Given the description of an element on the screen output the (x, y) to click on. 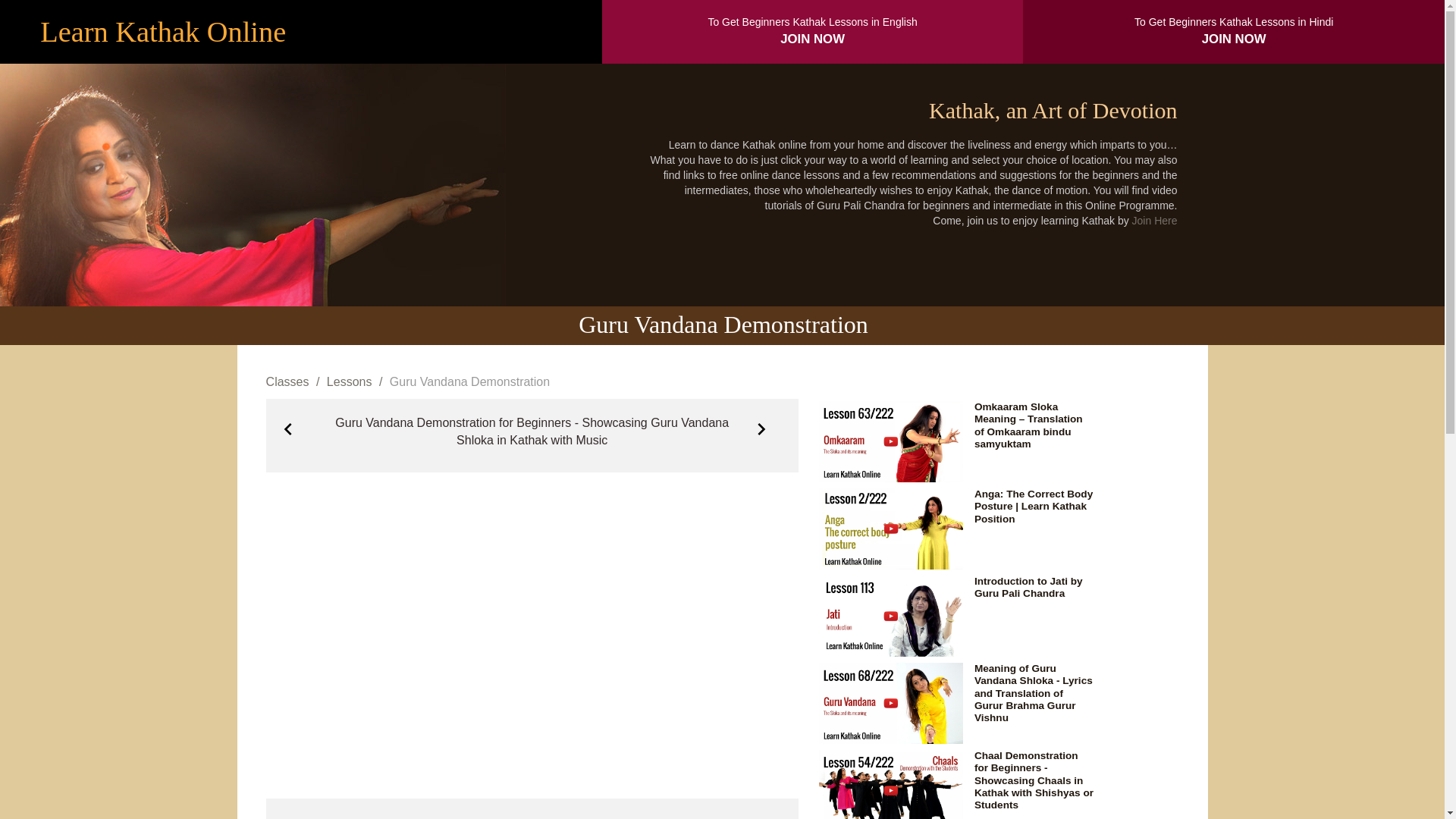
JOIN NOW (1234, 38)
Lessons (349, 381)
JOIN NOW (812, 38)
Classes (287, 381)
Join Here (1154, 220)
